Given the description of an element on the screen output the (x, y) to click on. 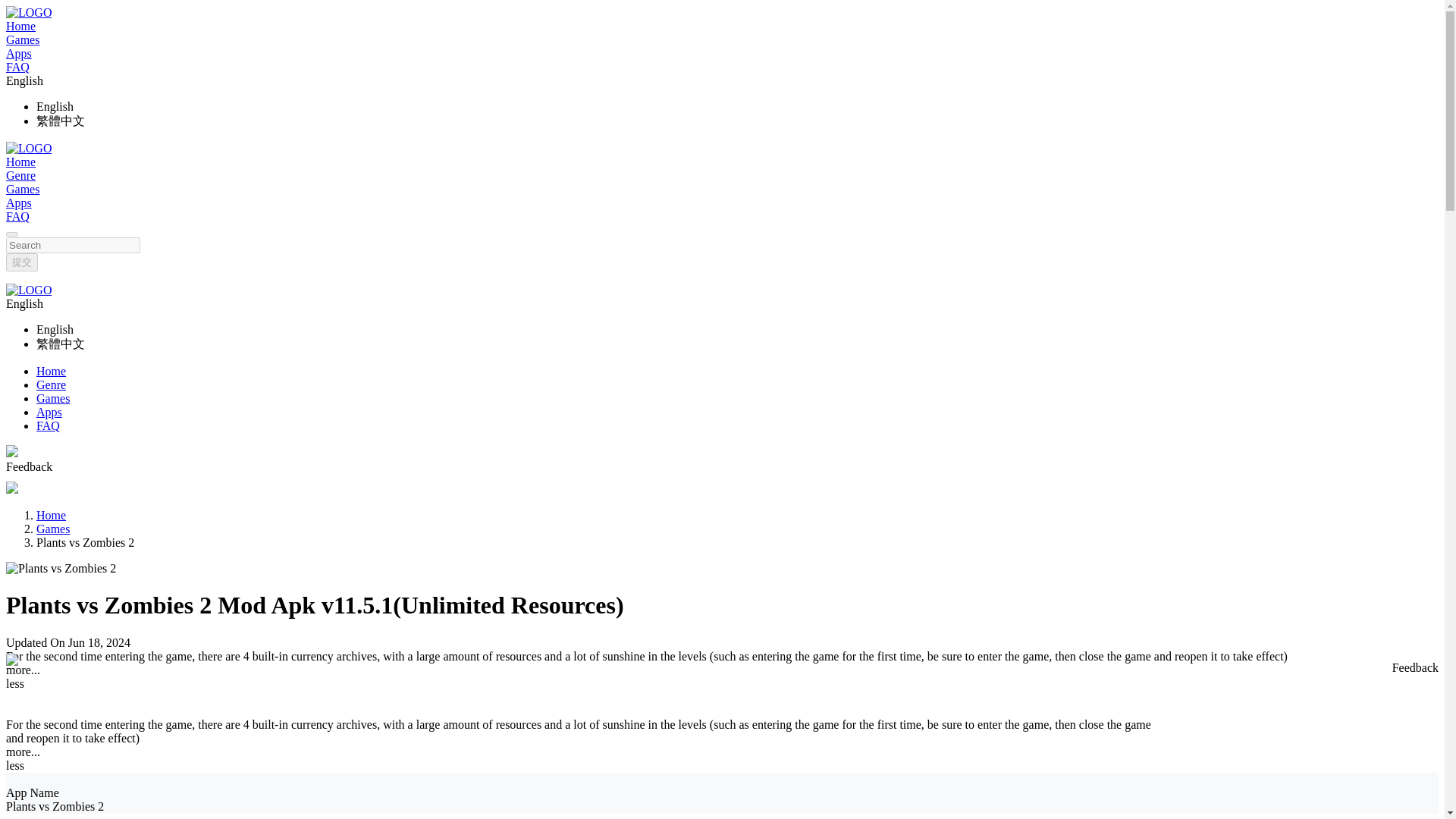
Home (50, 370)
Games (22, 188)
English (55, 328)
Games (52, 398)
Genre (19, 174)
Genre (50, 384)
Apps (49, 411)
Home (50, 514)
FAQ (17, 215)
FAQ (47, 425)
Home (19, 161)
English (55, 106)
Apps (18, 202)
Games (52, 528)
